Given the description of an element on the screen output the (x, y) to click on. 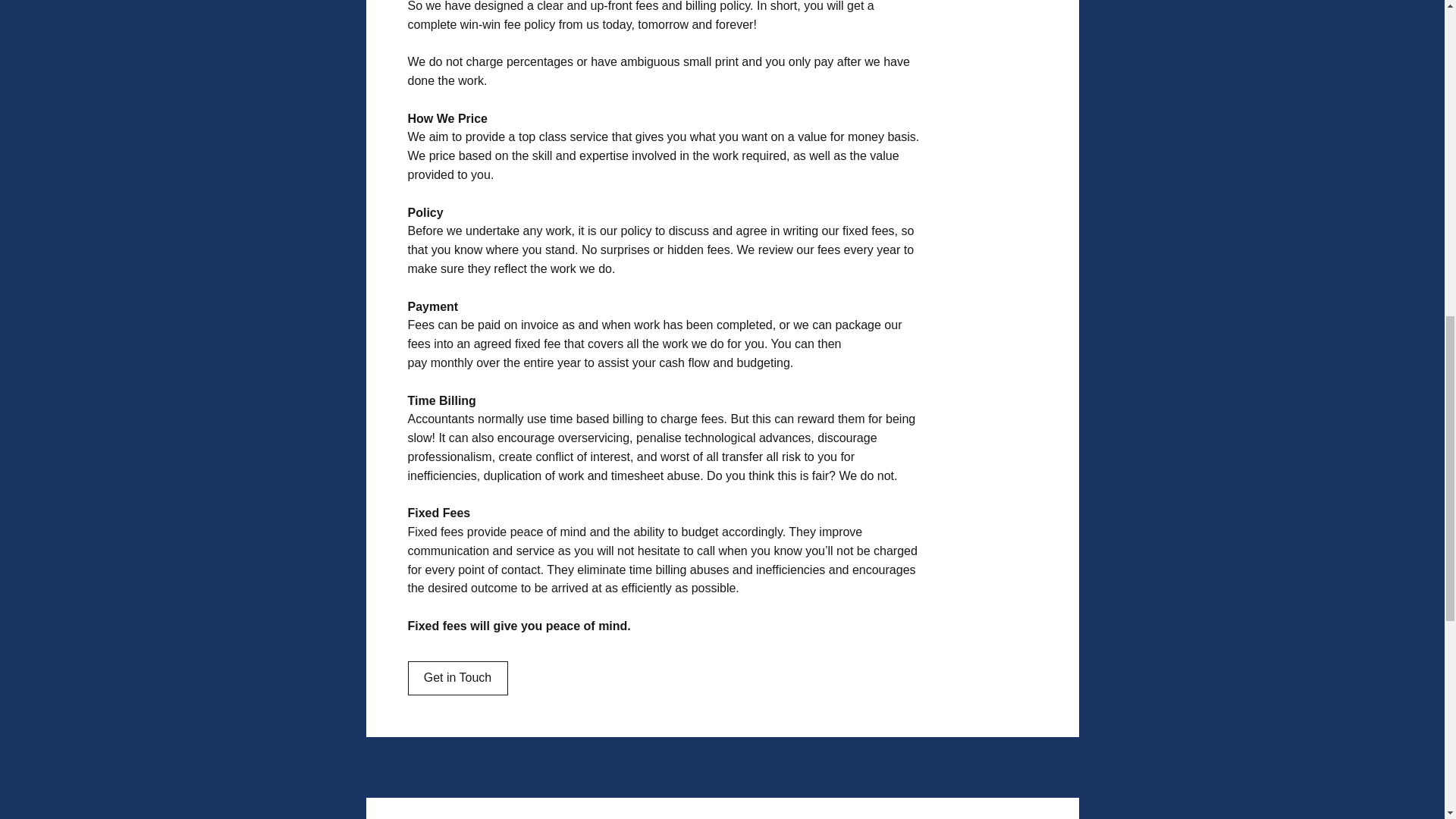
Get in Touch (457, 677)
